Given the description of an element on the screen output the (x, y) to click on. 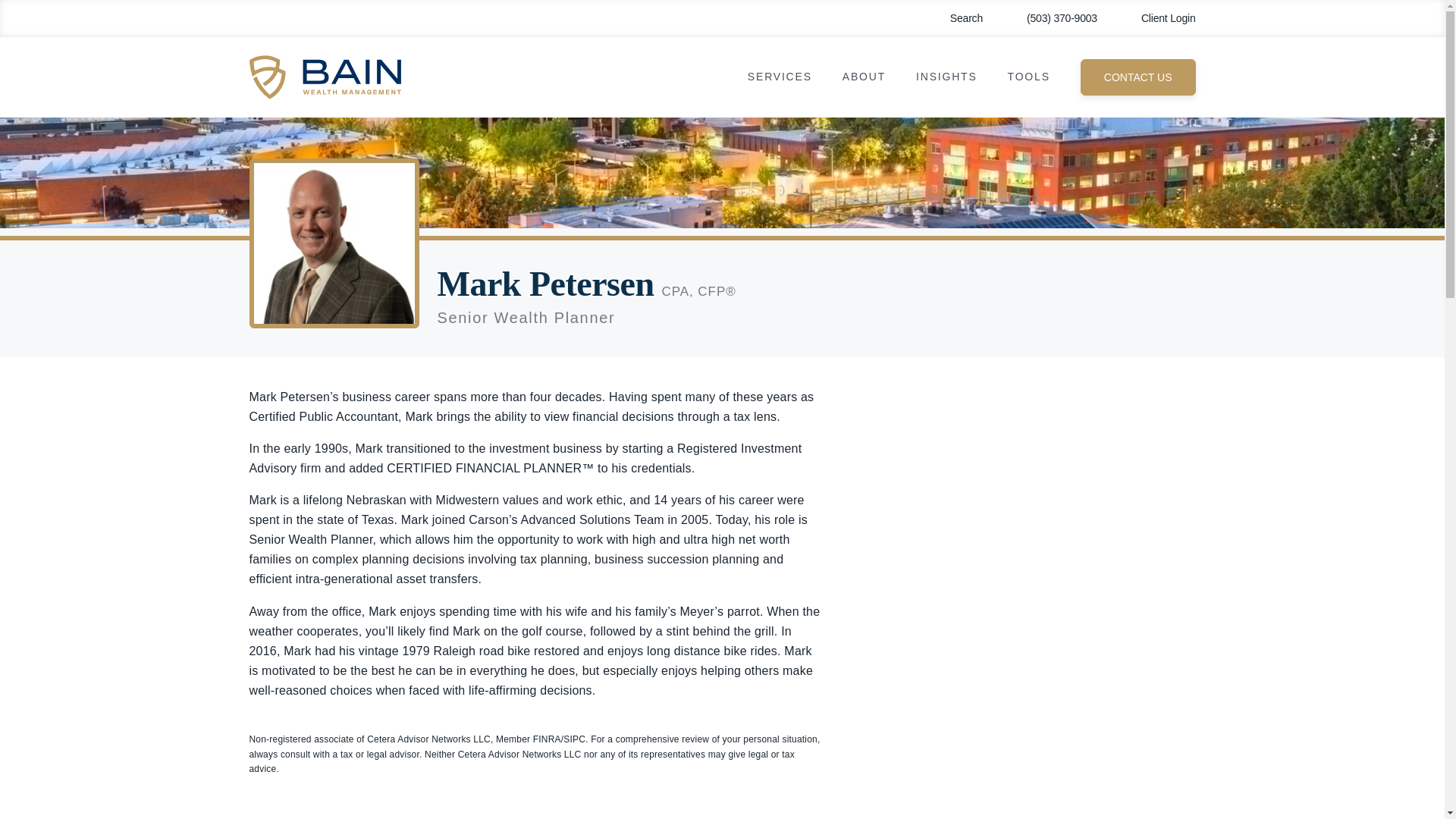
TOOLS (1028, 77)
INSIGHTS (945, 77)
SERVICES (780, 77)
Client Login (1157, 18)
Search (955, 18)
ABOUT (864, 77)
CONTACT US (1137, 76)
